Given the description of an element on the screen output the (x, y) to click on. 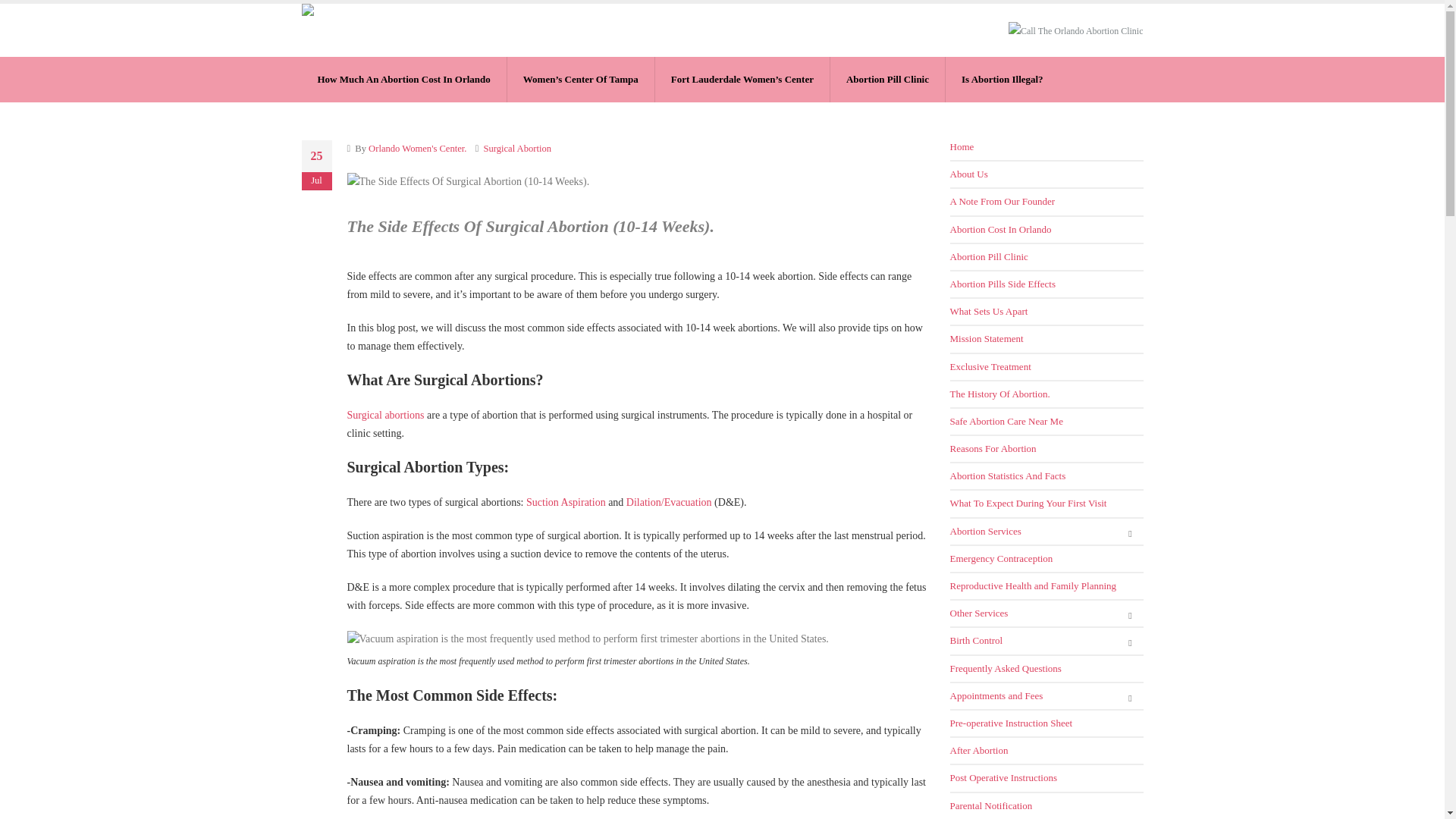
Reasons For Abortion (1045, 448)
What Sets Us Apart (1045, 311)
A Note From Our Founder (1045, 201)
The History Of Abortion. (1045, 394)
Suction Aspiration (565, 501)
Abortion Pill Clinic (1045, 257)
Abortion Pills Side Effects (1045, 284)
Surgical abortions (386, 414)
Is Abortion Illegal? (1001, 79)
What To Expect During Your First Visit (1045, 503)
Mission Statement (1045, 338)
Exclusive Treatment (1045, 365)
Posts by Orlando Women's Center. (416, 148)
Abortion Cost In Orlando (1045, 229)
